Given the description of an element on the screen output the (x, y) to click on. 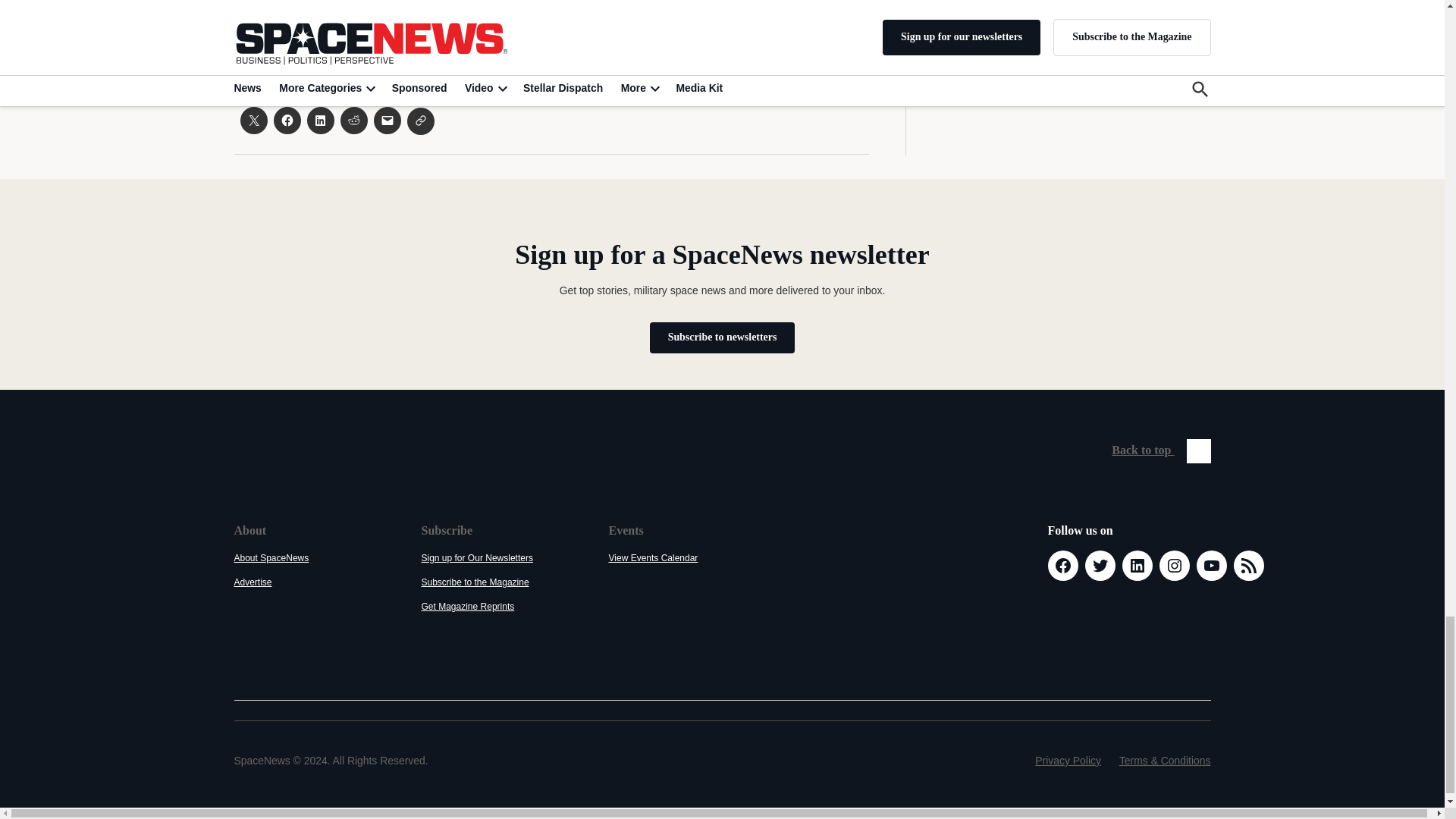
Click to email a link to a friend (386, 120)
Click to share on Facebook (286, 120)
Click to share on X (253, 120)
Click to share on Reddit (352, 120)
Click to share on LinkedIn (319, 120)
